Given the description of an element on the screen output the (x, y) to click on. 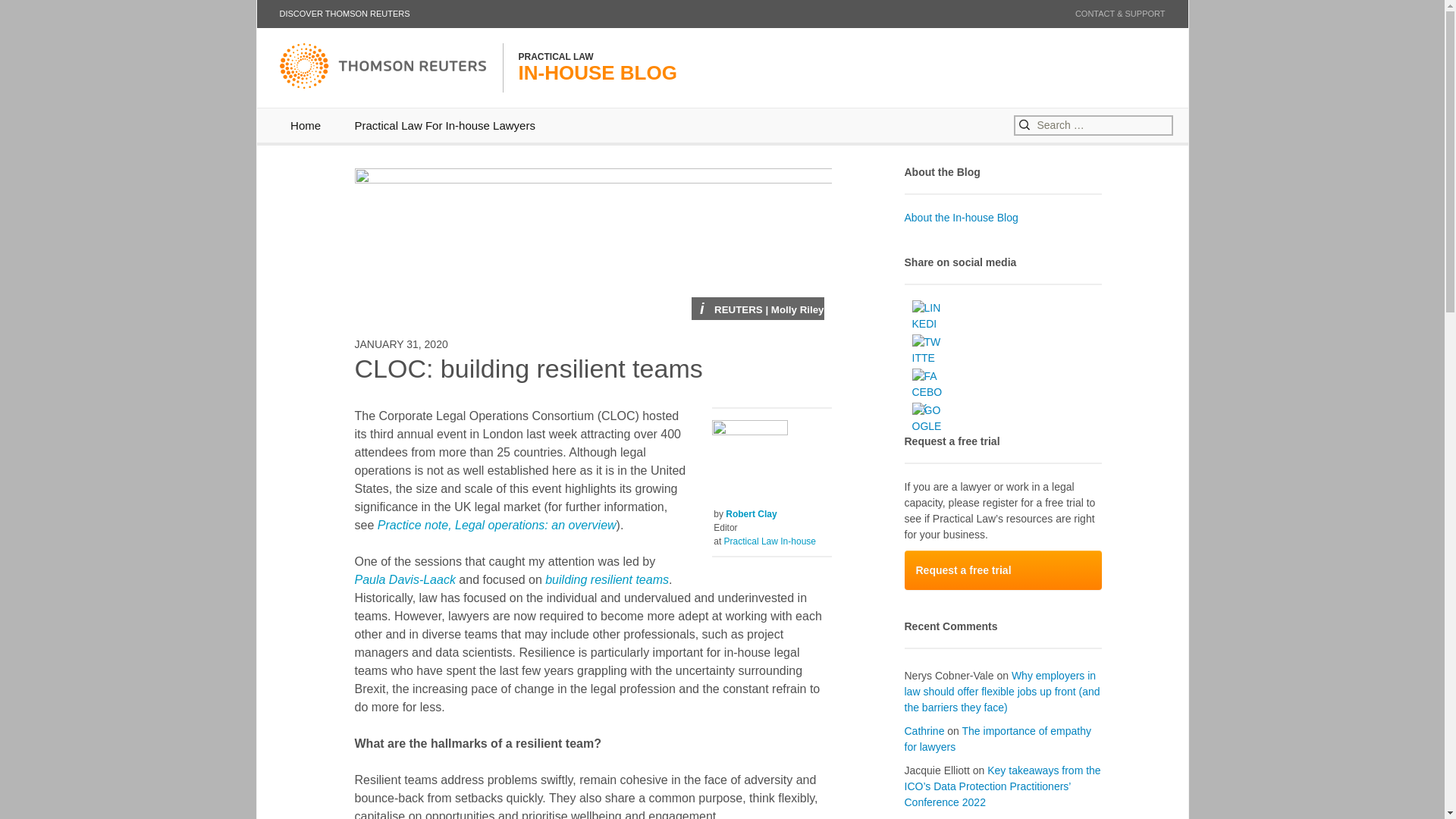
GOOGLE (926, 418)
Practical Law In-house (769, 541)
About the In-house Blog (960, 217)
building resilient teams (1002, 569)
Skip to content (606, 579)
Search (444, 125)
Robert Clay (37, 14)
Paula Davis-Laack (750, 513)
Home (405, 579)
DISCOVER THOMSON REUTERS (305, 125)
Skip to content (344, 13)
Cathrine (997, 738)
